Given the description of an element on the screen output the (x, y) to click on. 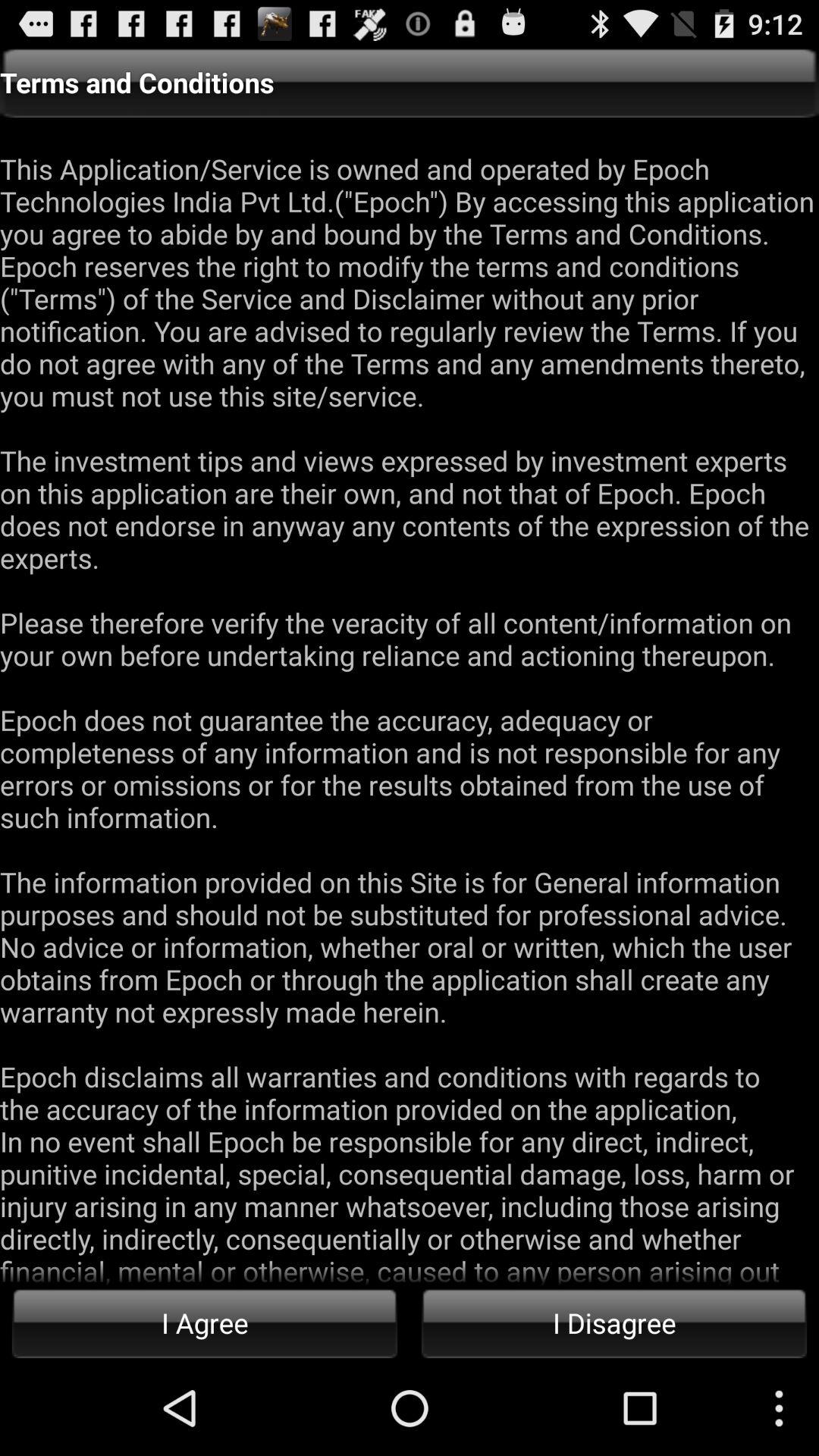
turn off the item at the bottom left corner (204, 1323)
